Given the description of an element on the screen output the (x, y) to click on. 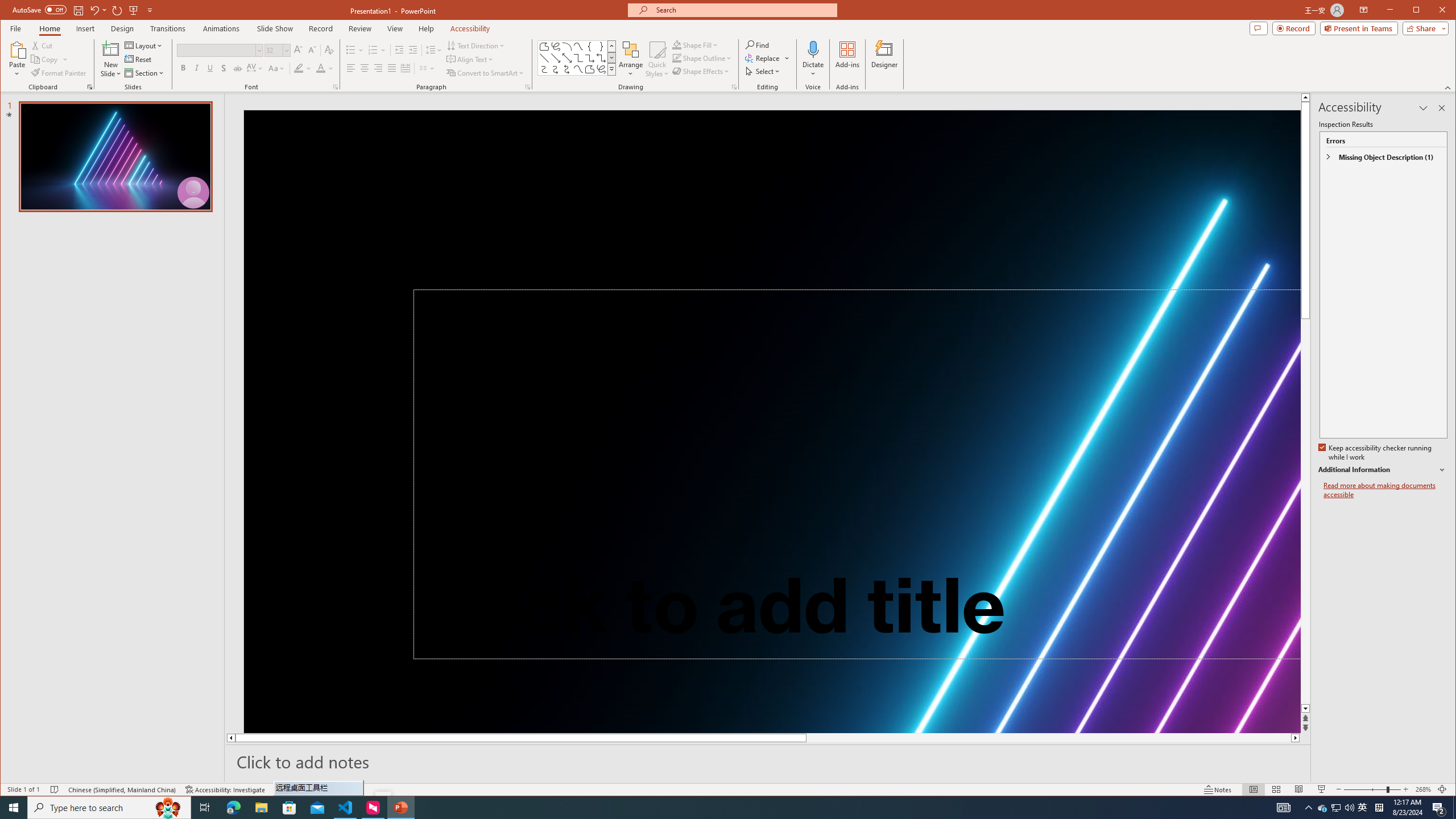
Connector: Curved Double-Arrow (567, 69)
